Given the description of an element on the screen output the (x, y) to click on. 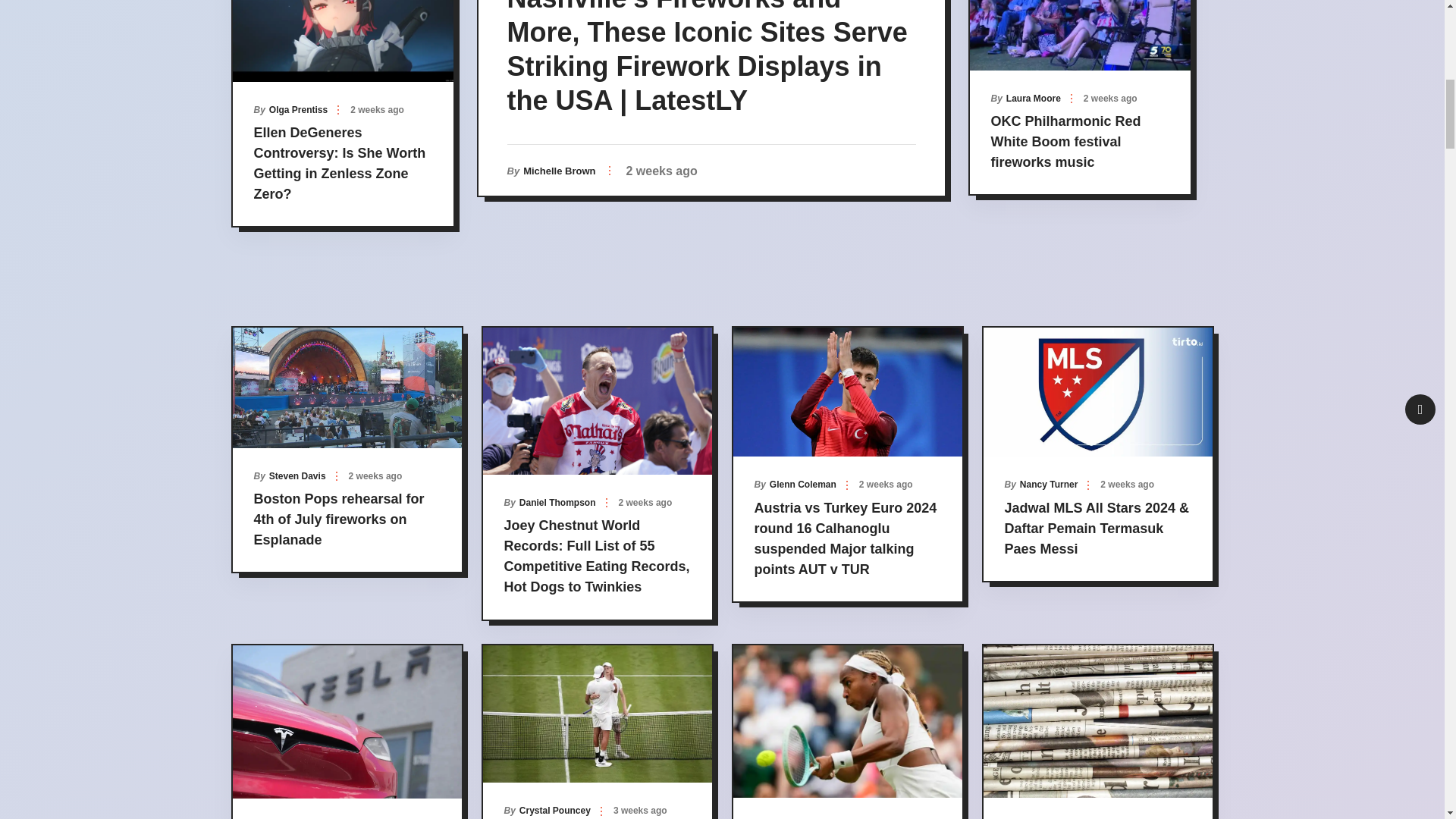
OKC Philharmonic Red White Boom festival fireworks music (1024, 98)
Boston Pops rehearsal for 4th of July fireworks on Esplanade (1065, 141)
